Given the description of an element on the screen output the (x, y) to click on. 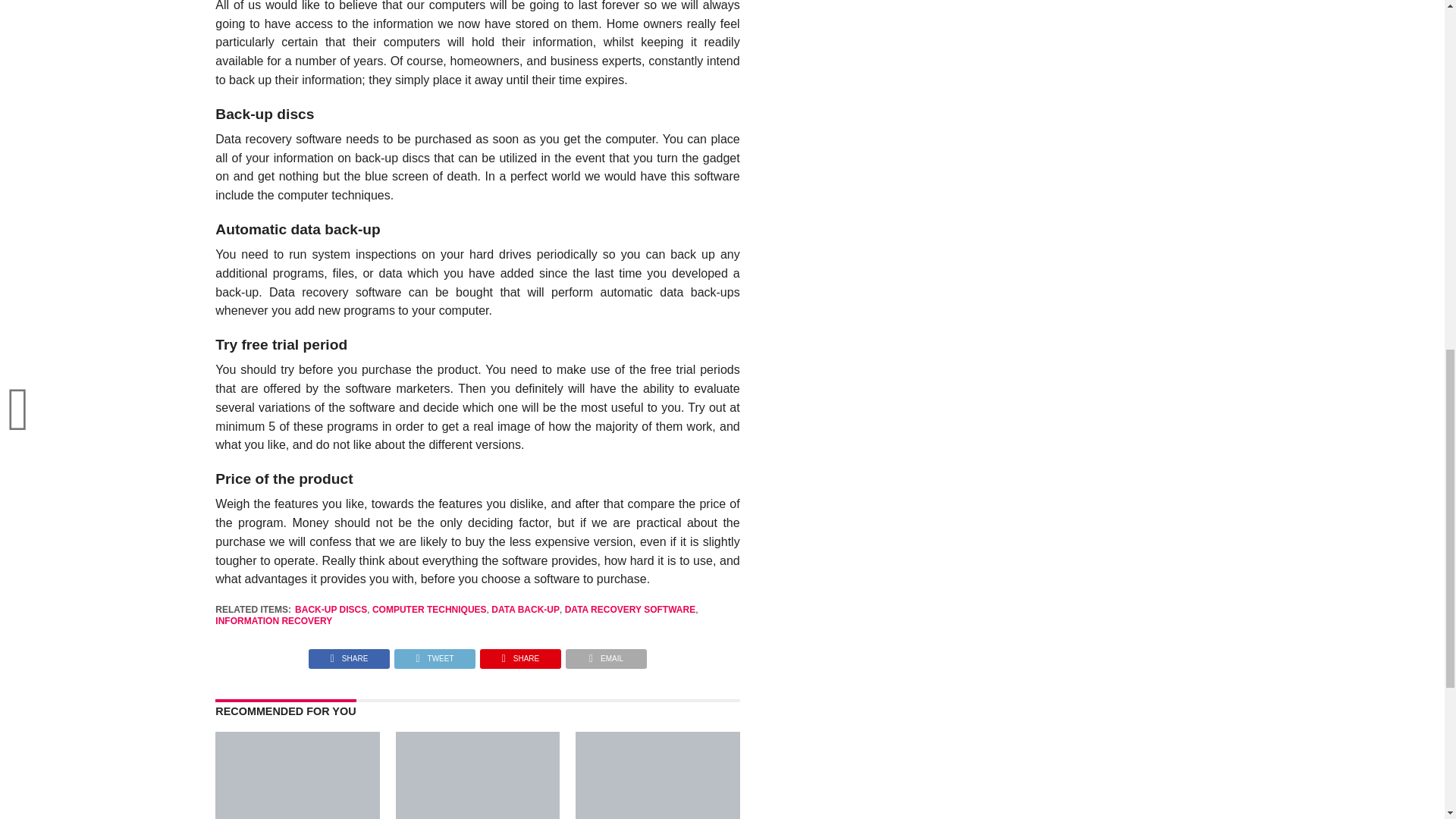
Tweet This Post (434, 654)
Pin This Post (520, 654)
Share on Facebook (349, 654)
